Given the description of an element on the screen output the (x, y) to click on. 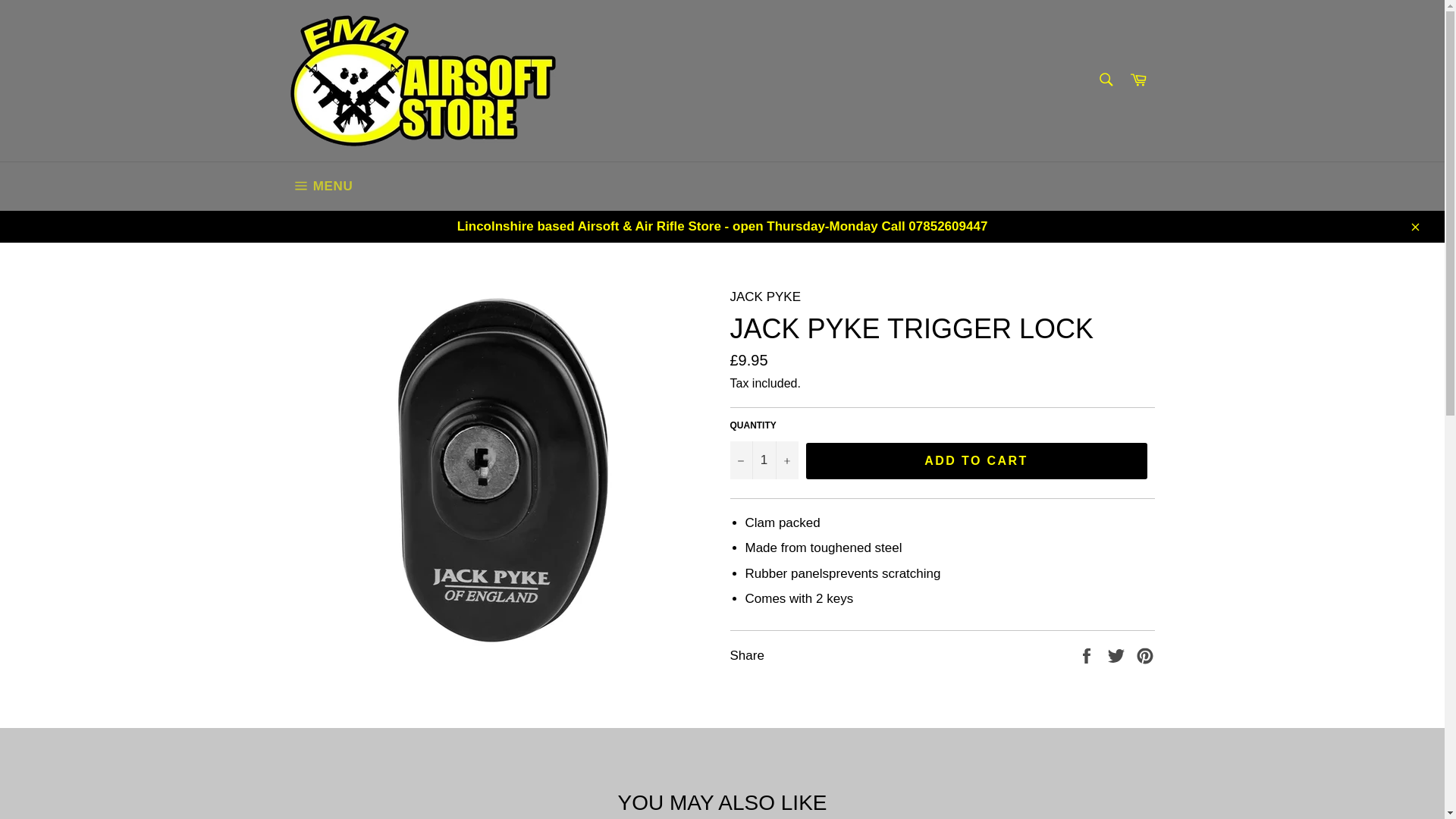
1 (763, 459)
Tweet on Twitter (1117, 654)
Pin on Pinterest (1144, 654)
Share on Facebook (1088, 654)
